Given the description of an element on the screen output the (x, y) to click on. 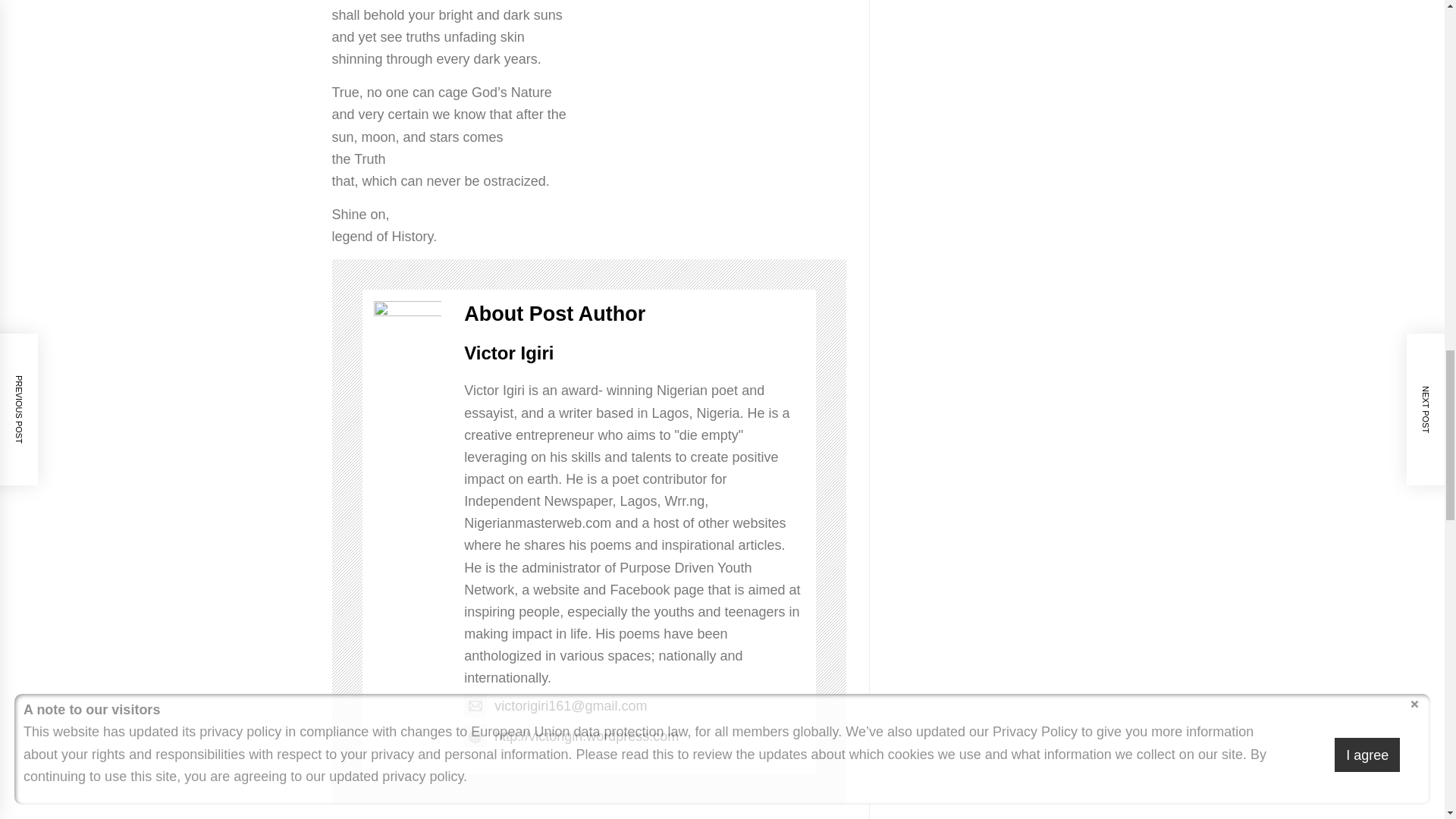
Victor Igiri (508, 353)
